Given the description of an element on the screen output the (x, y) to click on. 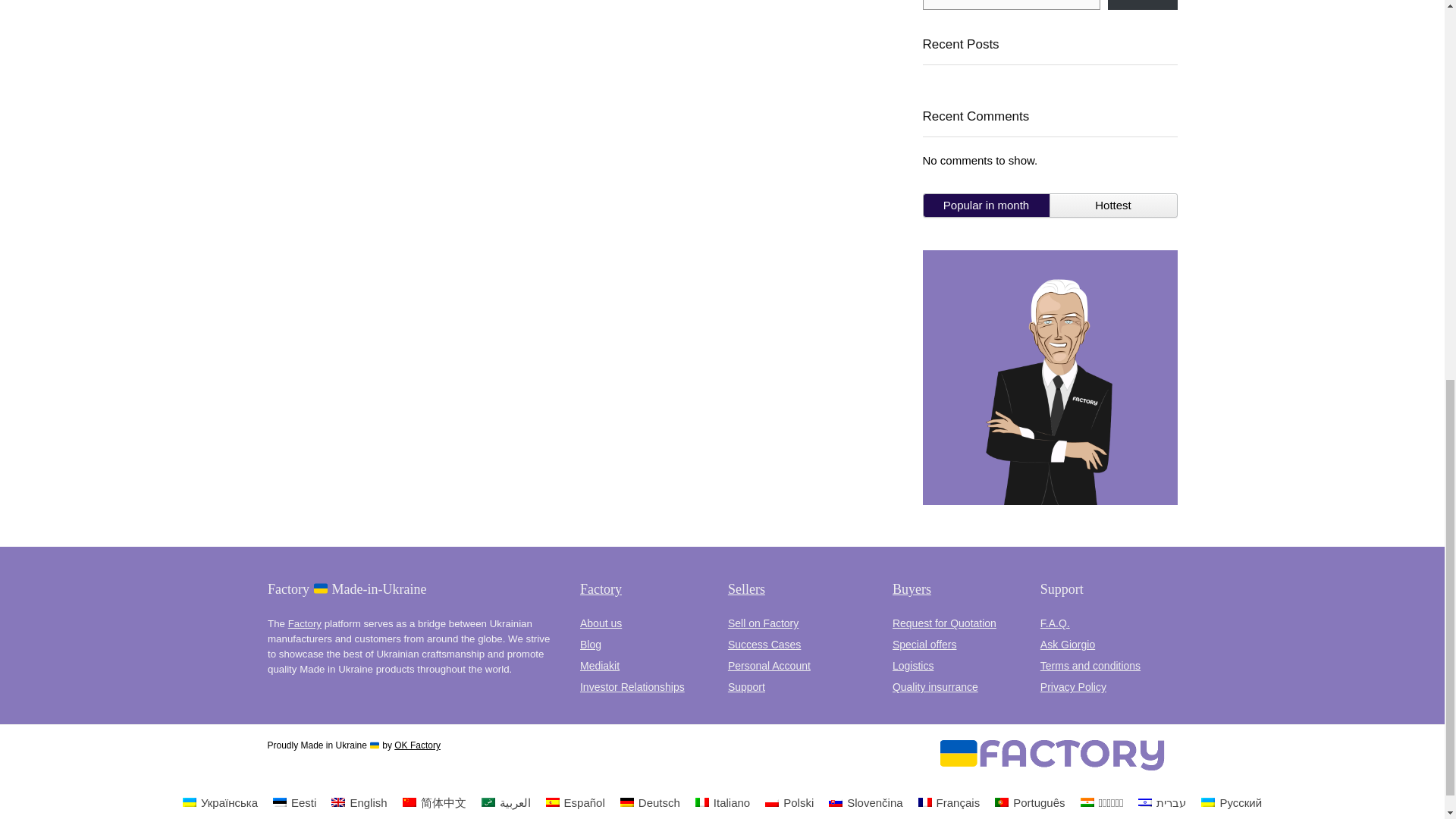
Search (1142, 4)
Mediakit (599, 665)
About us (600, 623)
Investor Relationships (631, 686)
Factory (600, 589)
Blog (590, 644)
Factory (304, 623)
